Given the description of an element on the screen output the (x, y) to click on. 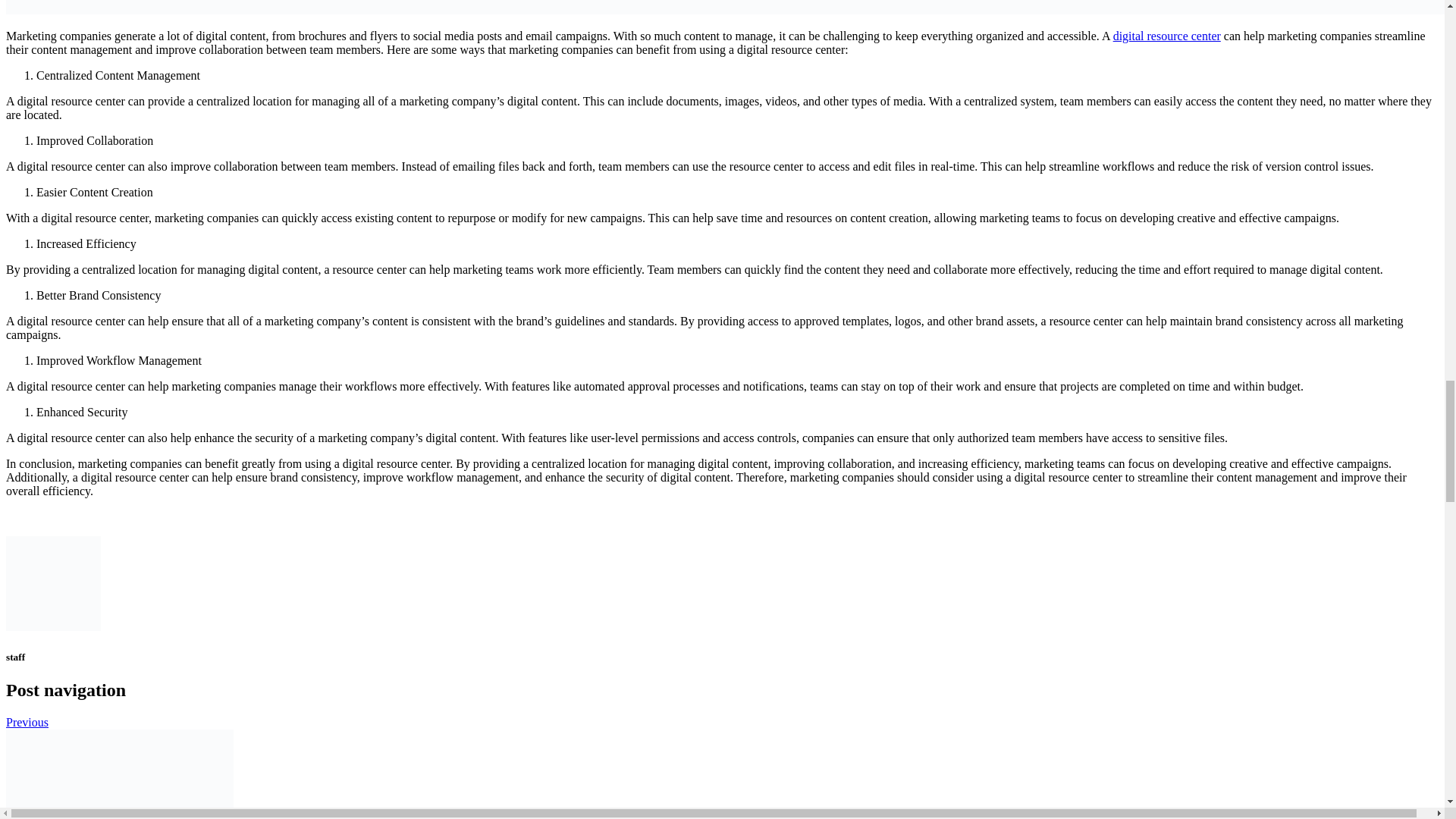
digital resource center (1167, 35)
